Given the description of an element on the screen output the (x, y) to click on. 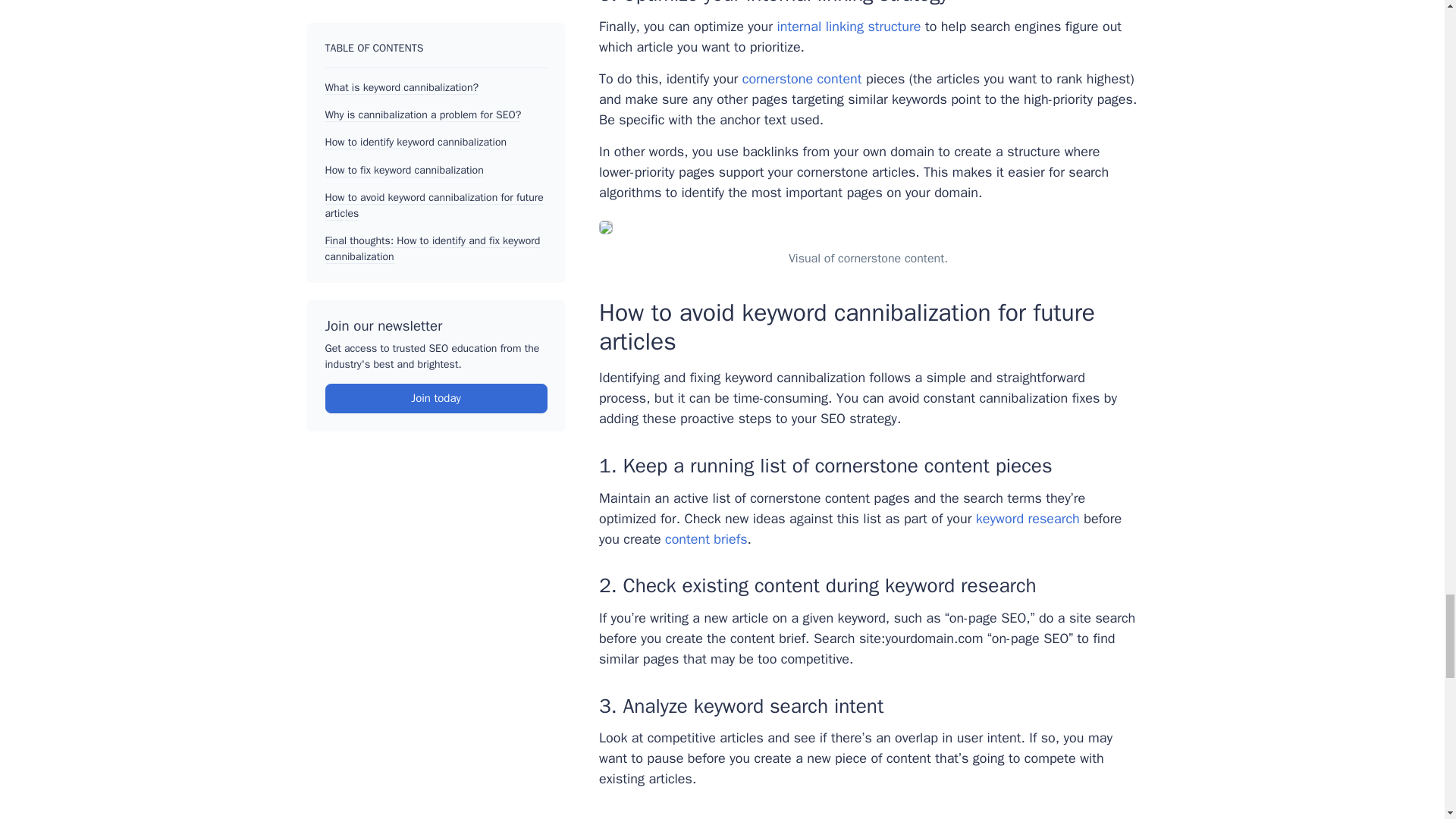
content briefs (706, 538)
internal linking structure (848, 26)
cornerstone content (801, 78)
keyword research (1027, 518)
